Given the description of an element on the screen output the (x, y) to click on. 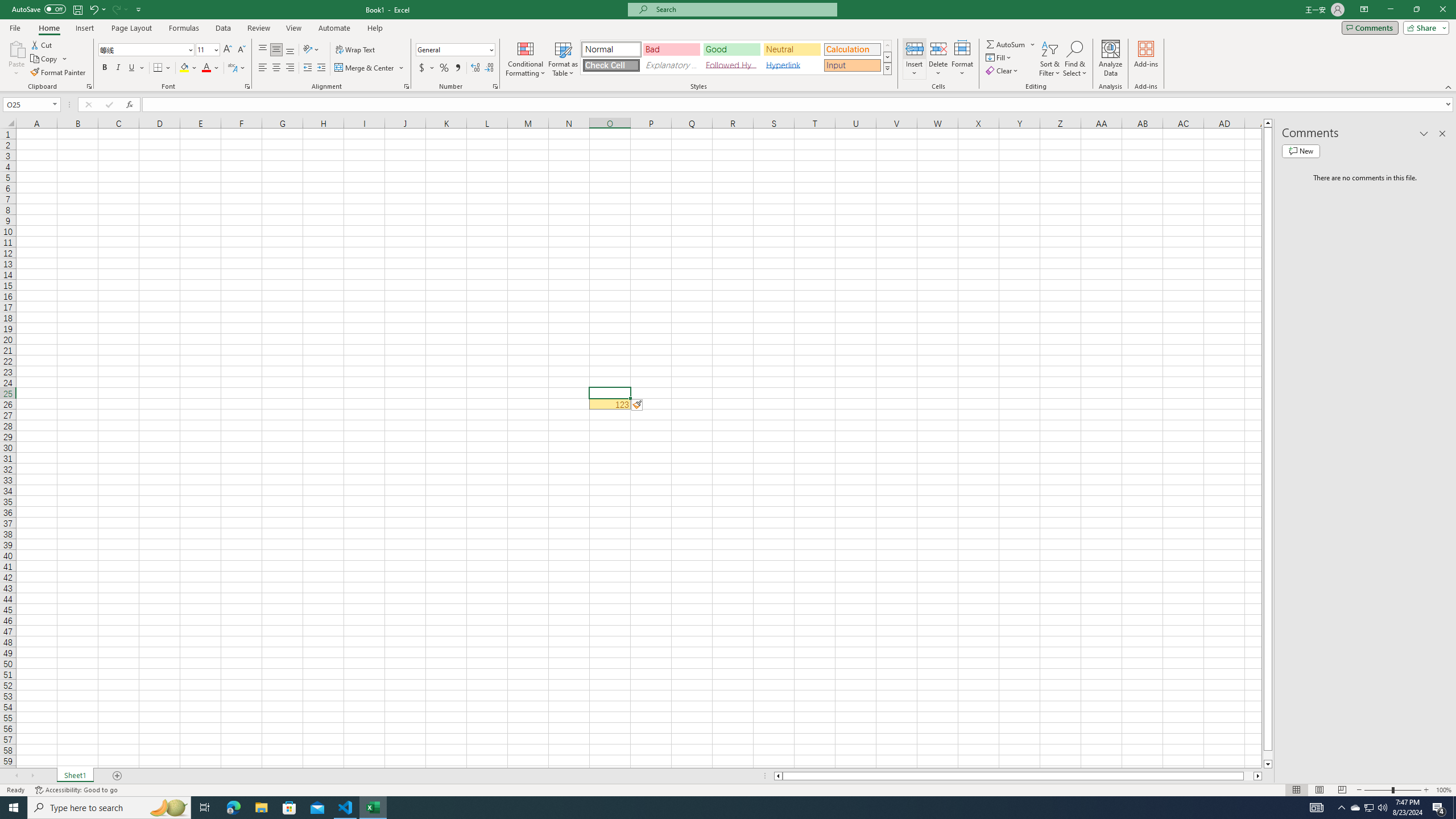
Restore Down (1416, 9)
Increase Decimal (474, 67)
Merge & Center (365, 67)
Home (48, 28)
Format Painter (58, 72)
Font (142, 49)
Show Phonetic Field (236, 67)
Accounting Number Format (422, 67)
Input (852, 65)
Align Right (290, 67)
Center (276, 67)
Check Cell (611, 65)
Paste (16, 48)
